Given the description of an element on the screen output the (x, y) to click on. 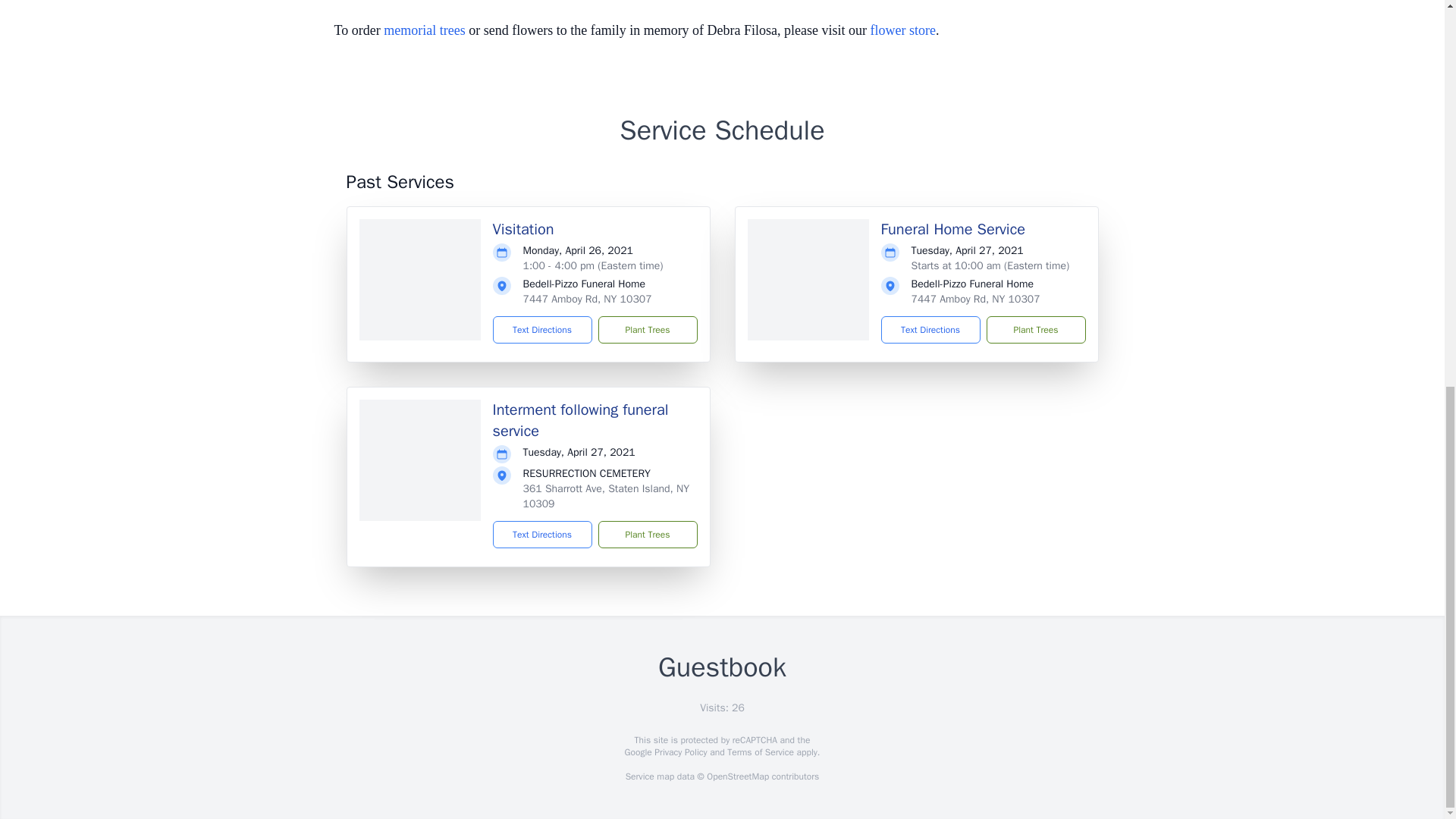
Text Directions (542, 329)
OpenStreetMap (737, 776)
7447 Amboy Rd, NY 10307 (976, 298)
Privacy Policy (679, 752)
Text Directions (929, 329)
Plant Trees (646, 329)
361 Sharrott Ave, Staten Island, NY 10309 (606, 496)
Plant Trees (1034, 329)
Terms of Service (759, 752)
flower store (903, 29)
